Given the description of an element on the screen output the (x, y) to click on. 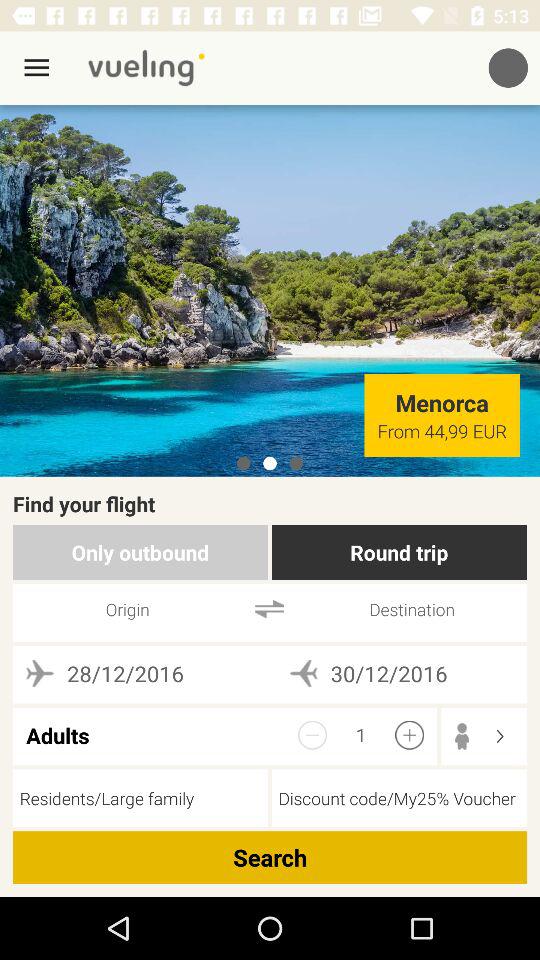
launch icon below the find your flight item (140, 552)
